Given the description of an element on the screen output the (x, y) to click on. 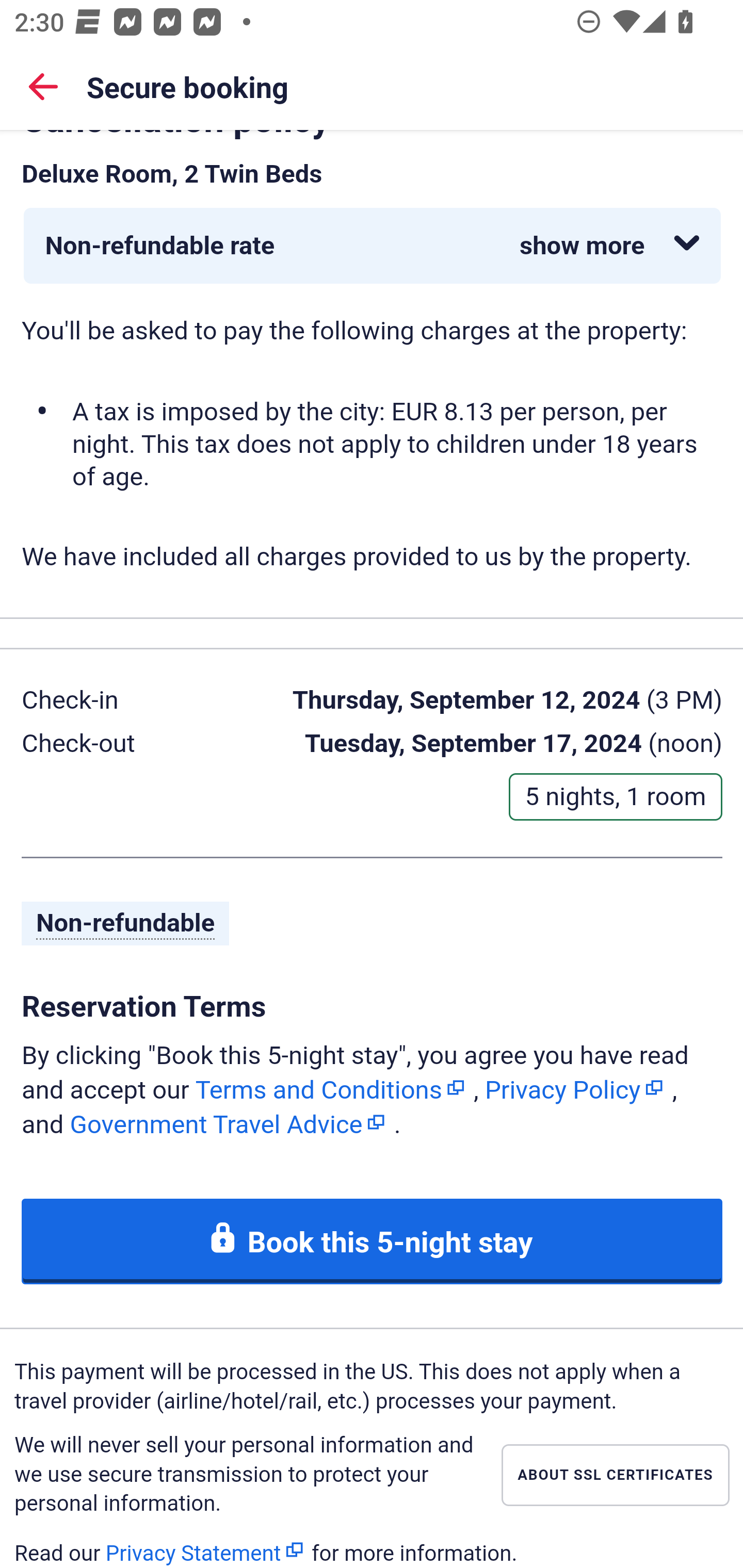
Back (43, 86)
Non-refundable rate (372, 246)
Non-refundable (126, 925)
Terms and Conditions Terms and Conditions  (330, 1089)
Privacy Policy Privacy Policy  (574, 1089)
Book this 5-night stay (372, 1242)
ABOUT SSL CERTIFICATES (615, 1475)
Privacy Statement Privacy Statement  (205, 1549)
